Given the description of an element on the screen output the (x, y) to click on. 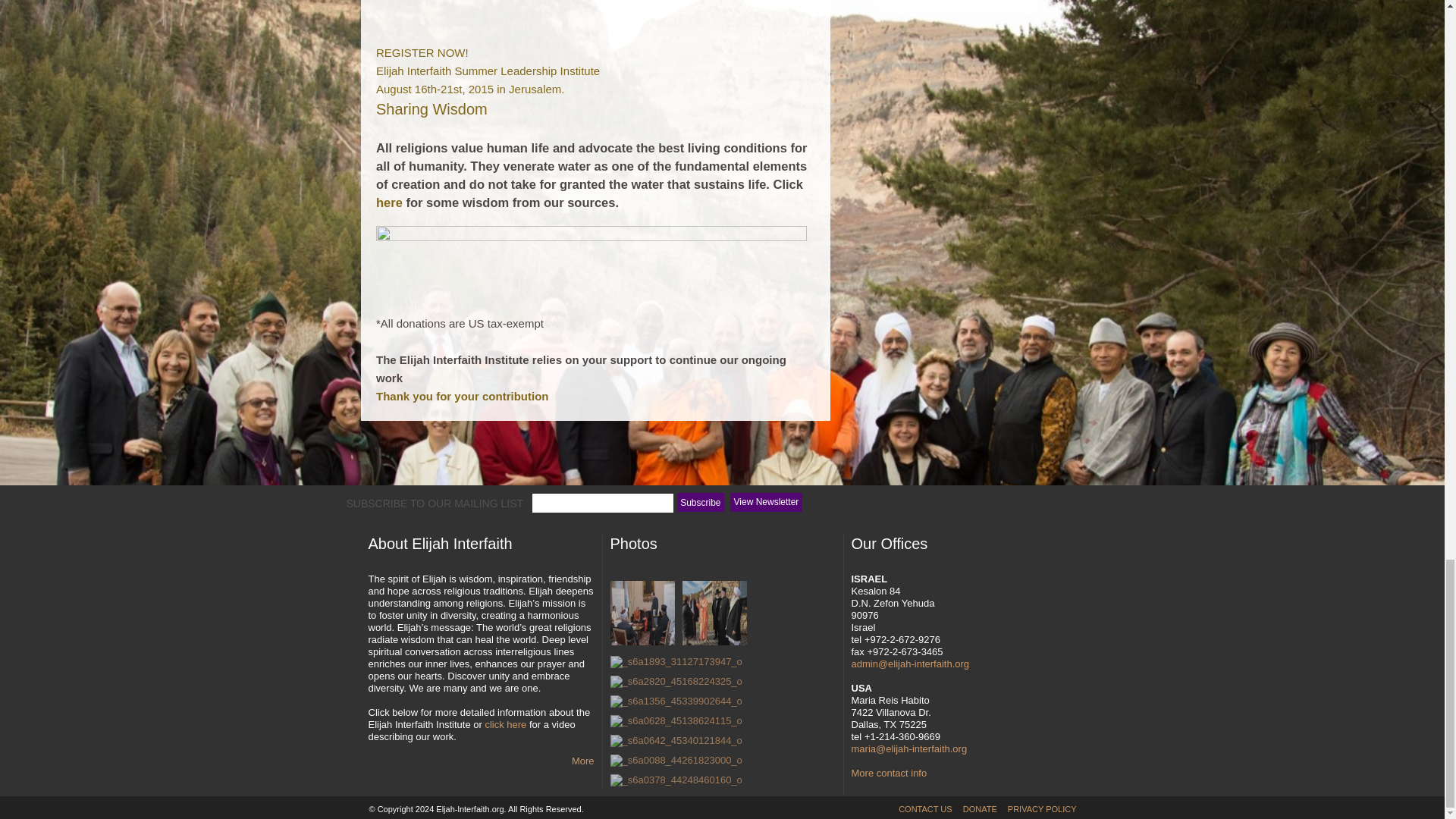
Subscribe (700, 502)
Subscribe (700, 502)
View Newsletter (766, 502)
here (389, 202)
Thank you for your contribution (461, 395)
